Given the description of an element on the screen output the (x, y) to click on. 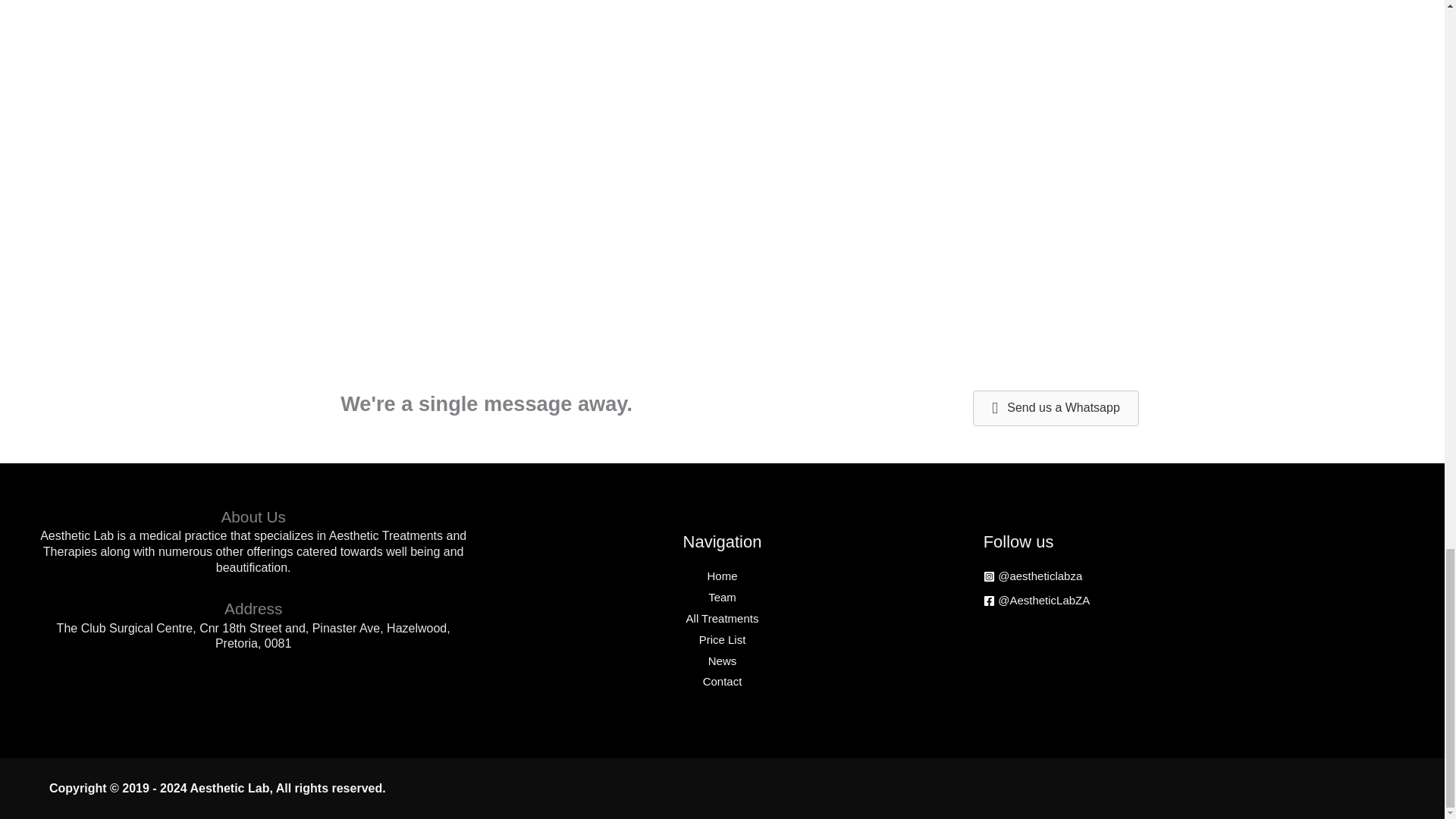
Send us a Whatsapp (1055, 407)
Home (721, 575)
Contact (722, 680)
All Treatments (721, 617)
Price List (721, 639)
Team (721, 596)
News (721, 660)
